Given the description of an element on the screen output the (x, y) to click on. 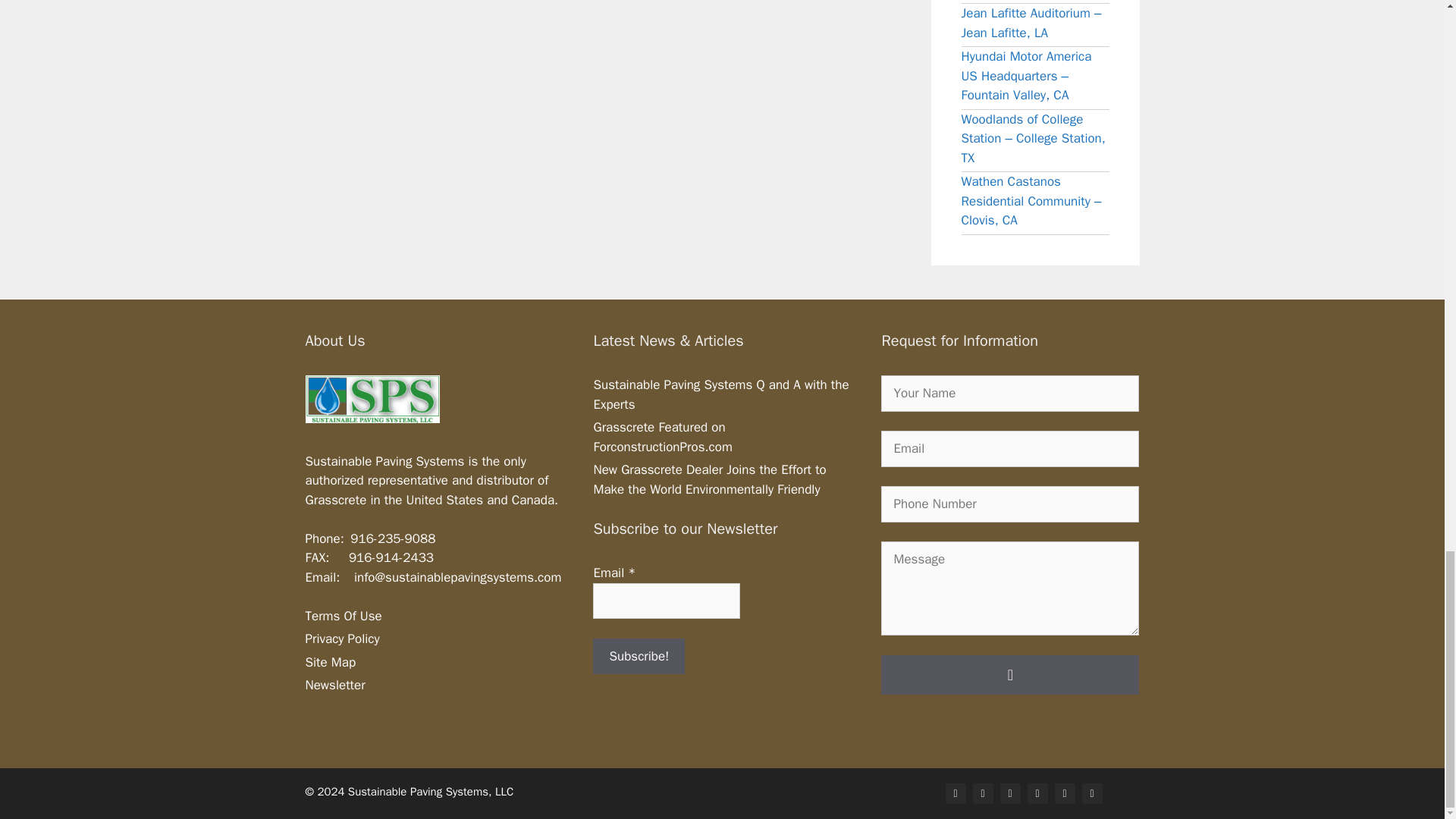
Subscribe! (638, 656)
